Given the description of an element on the screen output the (x, y) to click on. 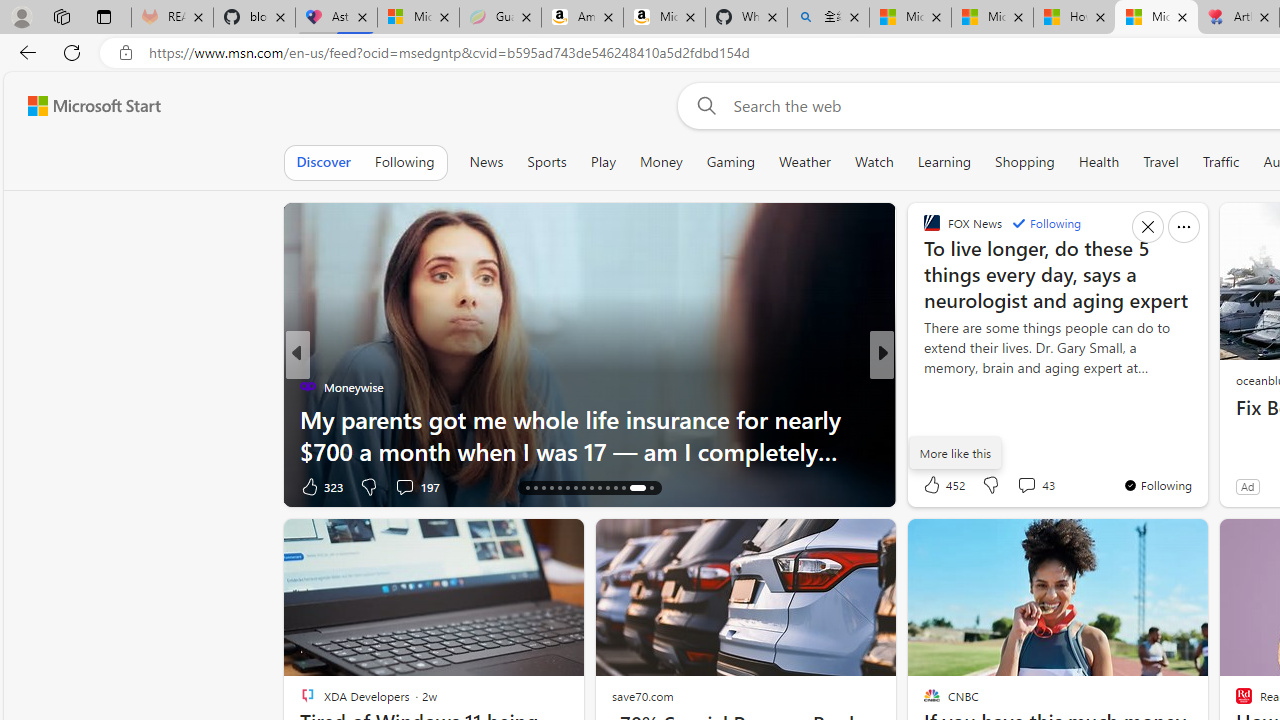
Travel (1160, 162)
View comments 197 Comment (417, 486)
20 Like (934, 486)
Learning (944, 161)
save70.com (642, 696)
Gaming (730, 161)
AutomationID: tab-23 (582, 487)
AutomationID: tab-19 (550, 487)
